Given the description of an element on the screen output the (x, y) to click on. 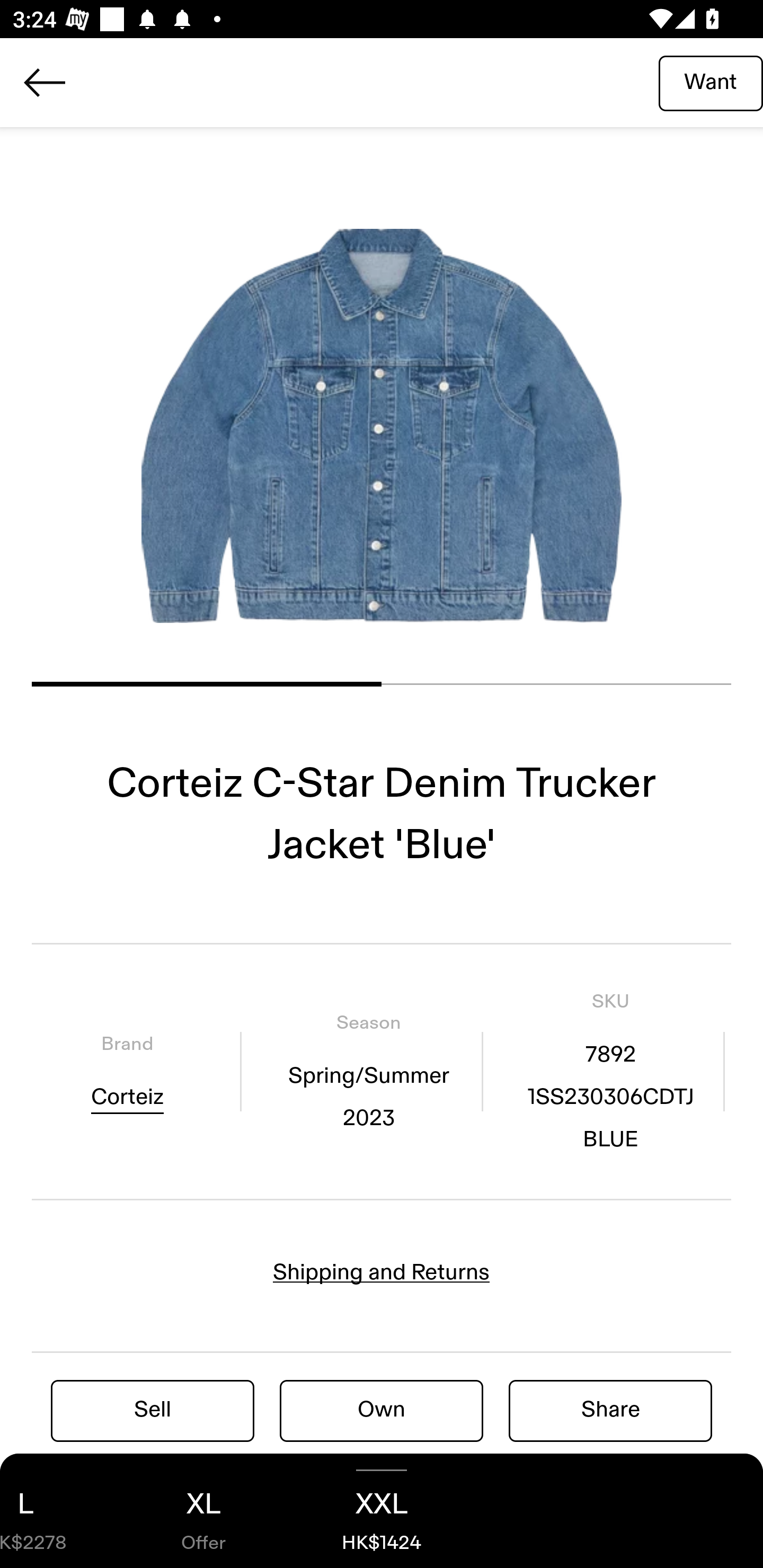
Want (710, 82)
Brand Corteiz (126, 1070)
Season Spring/Summer 2023 (368, 1070)
SKU 7892 1SS230306CDTJ BLUE (609, 1070)
Shipping and Returns (381, 1272)
Sell (152, 1410)
Own (381, 1410)
Share (609, 1410)
L HK$2278 (57, 1510)
XL Offer (203, 1510)
XXL HK$1424 (381, 1510)
